Given the description of an element on the screen output the (x, y) to click on. 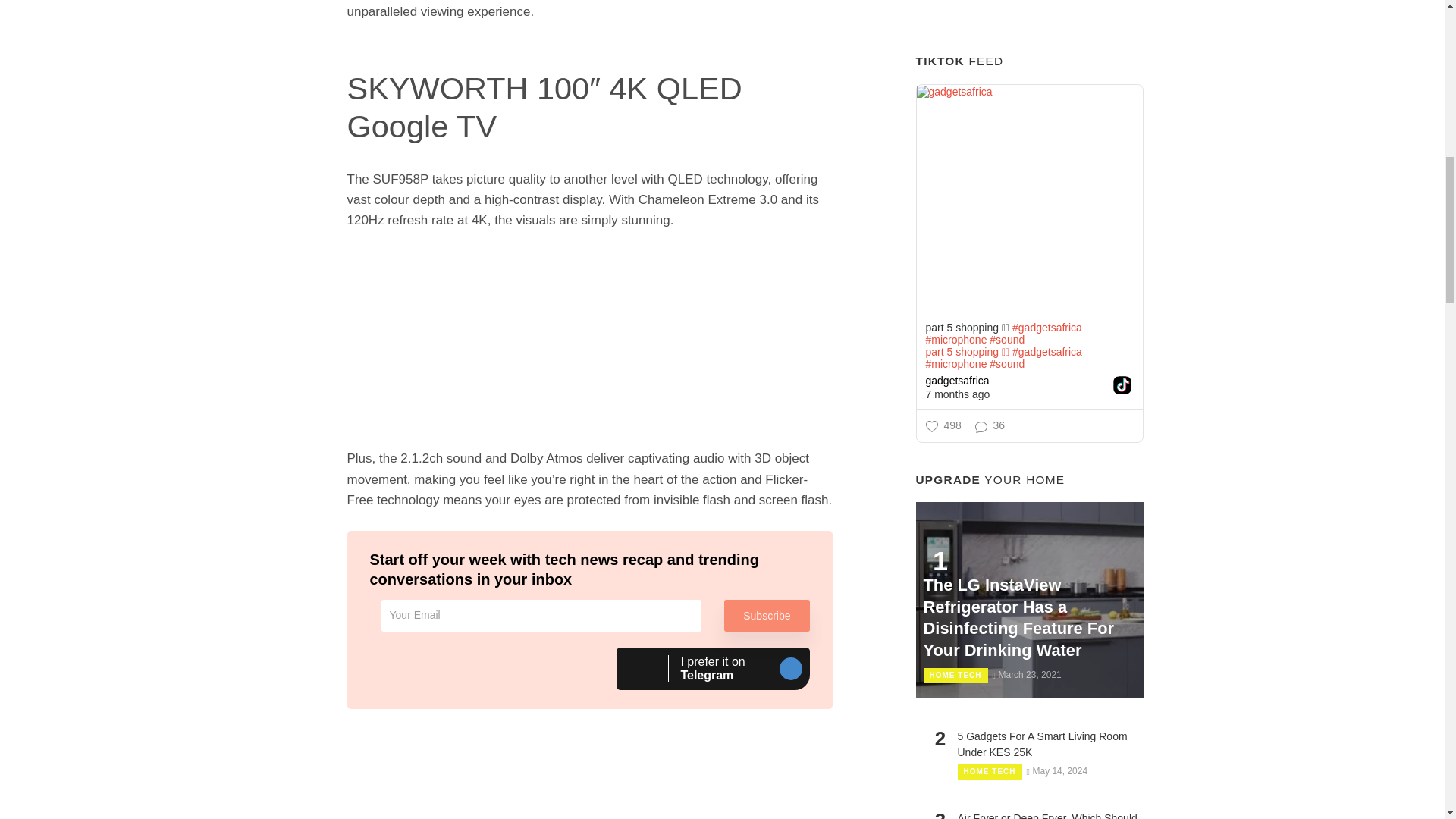
May 14, 2024 at 3:24 pm (712, 668)
March 23, 2021 at 2:29 pm (1056, 770)
Subscribe (1026, 674)
